Given the description of an element on the screen output the (x, y) to click on. 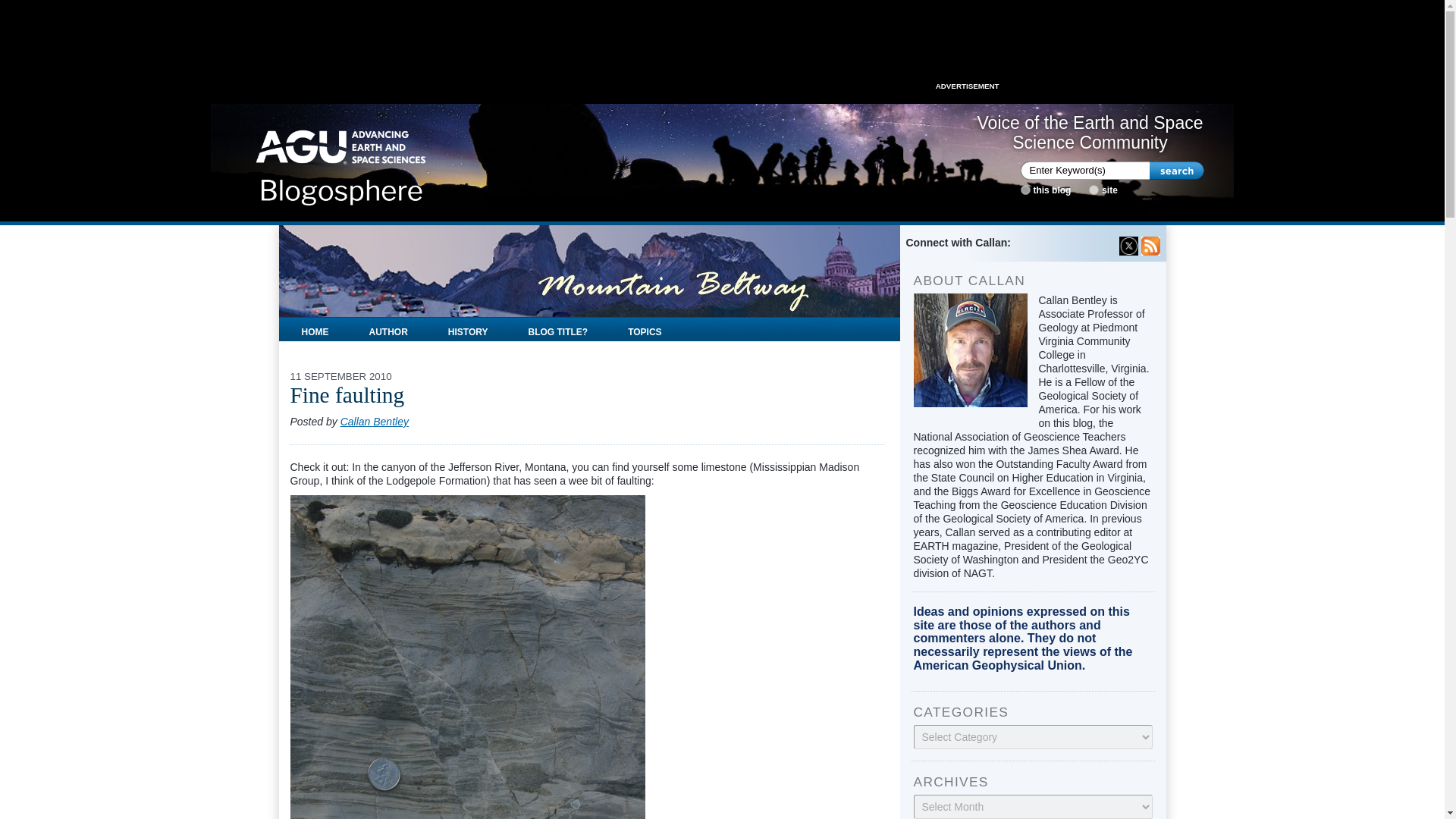
Permanent Link to Fine faulting (346, 395)
TOPICS (643, 328)
Home (341, 162)
Callan Bentley (374, 421)
all (1094, 189)
3rd party ad content (721, 45)
Fine faulting (346, 395)
blog (1025, 189)
BLOG TITLE? (558, 328)
HISTORY (467, 328)
